Given the description of an element on the screen output the (x, y) to click on. 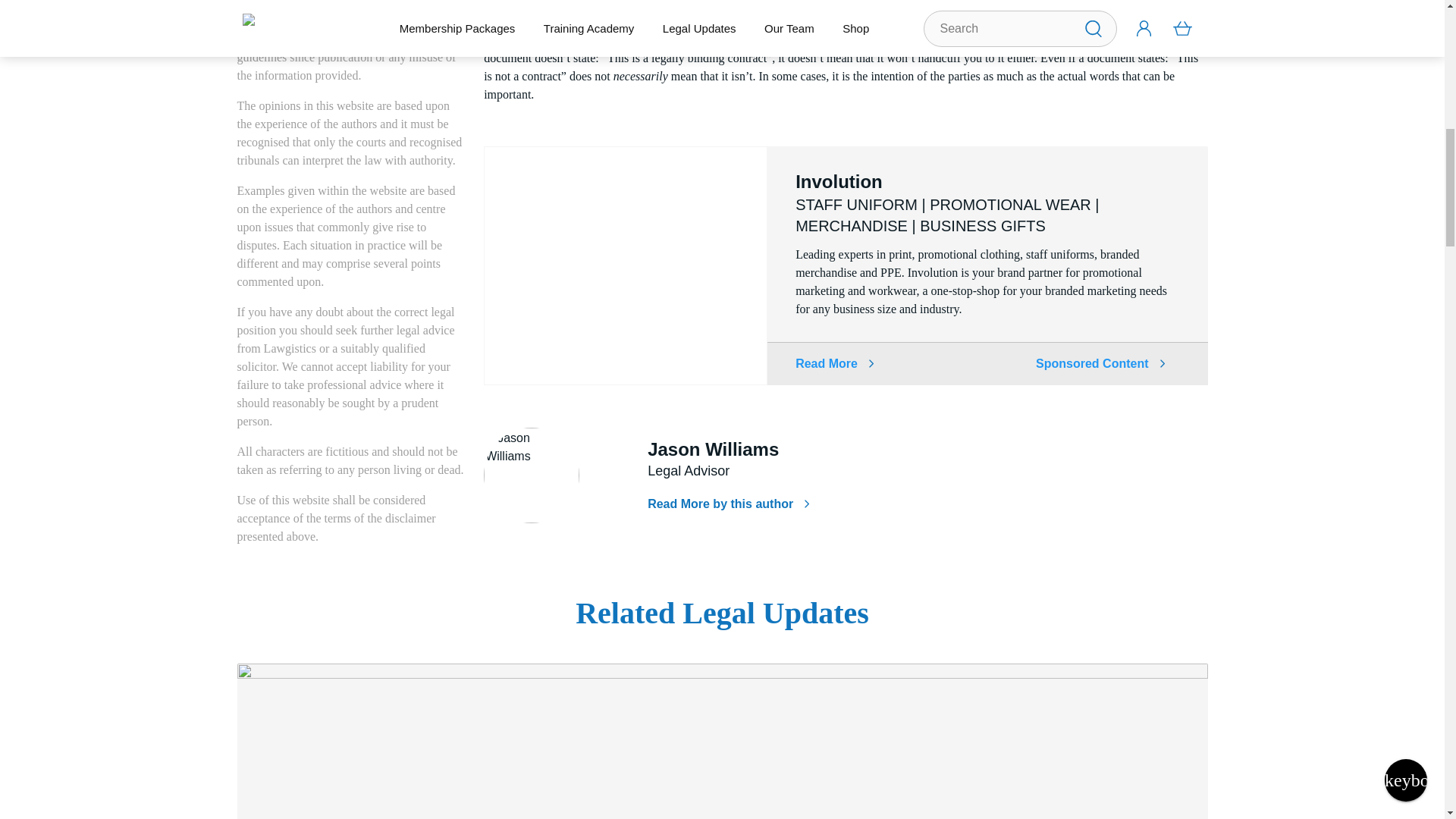
Jason Williams (531, 475)
Read More by this author (728, 503)
Read More (833, 363)
Sponsored Content (1099, 363)
